Given the description of an element on the screen output the (x, y) to click on. 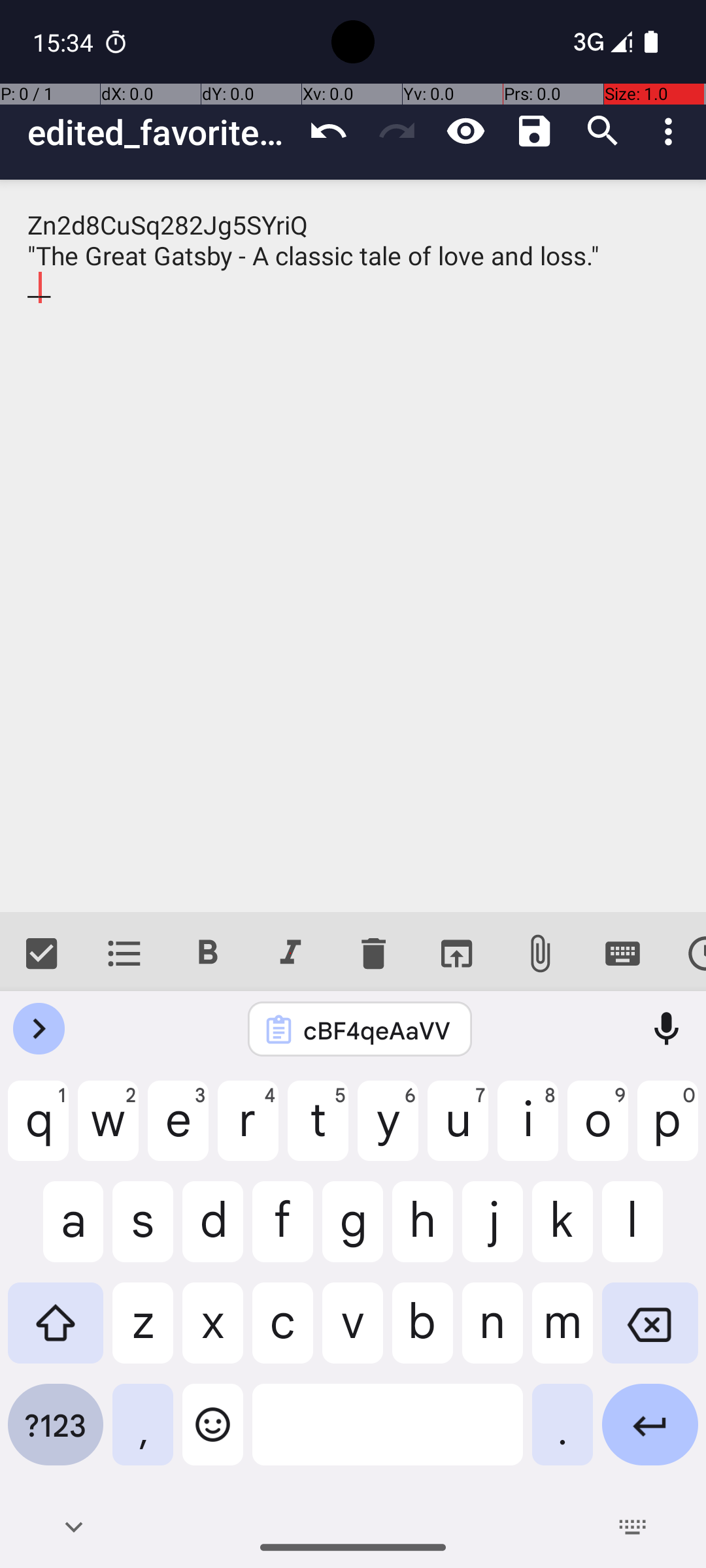
edited_favorite_book_quotes Element type: android.widget.TextView (160, 131)
Zn2d8CuSq282Jg5SYriQ
"The Great Gatsby - A classic tale of love and loss."
__ Element type: android.widget.EditText (353, 545)
cBF4qeAaVV Element type: android.widget.TextView (377, 1029)
